Given the description of an element on the screen output the (x, y) to click on. 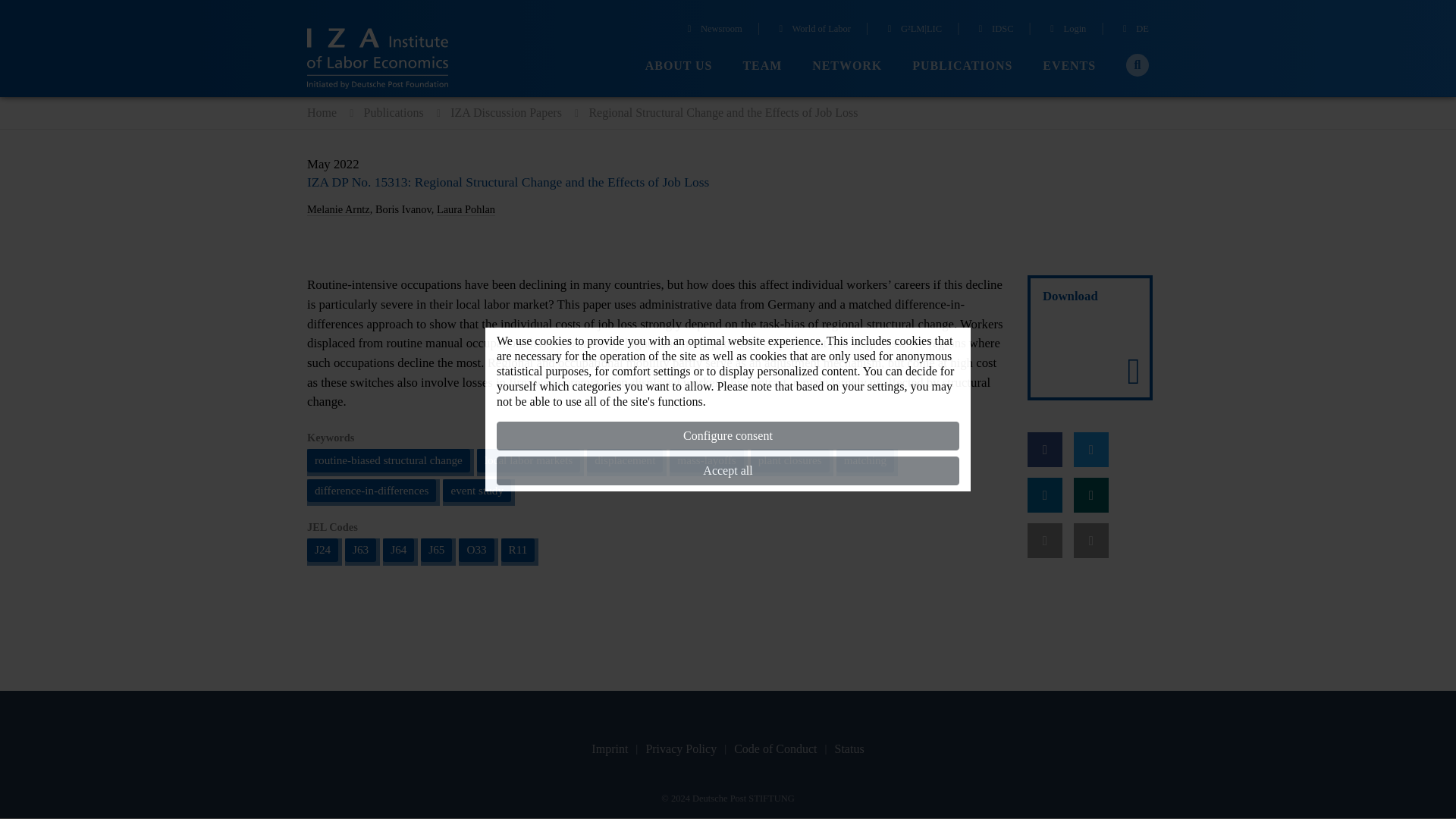
PUBLICATIONS (961, 66)
World of Labor (812, 30)
TEAM (761, 66)
ABOUT US (679, 66)
Newsroom (712, 30)
EVENTS (1069, 66)
Login (1066, 30)
NETWORK (847, 66)
IDSC (993, 30)
DE (1133, 30)
